Given the description of an element on the screen output the (x, y) to click on. 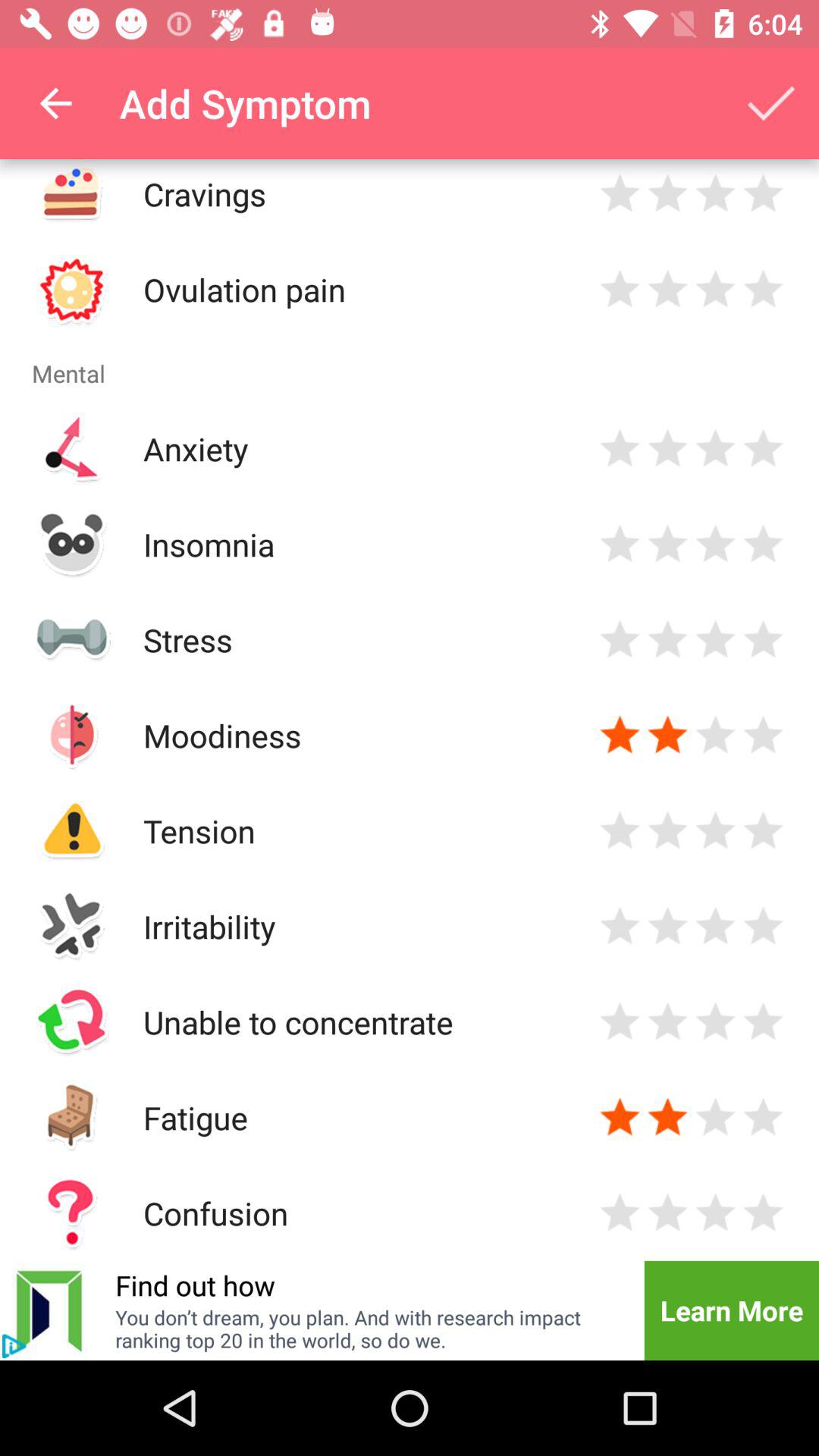
give insomnia four stars (763, 544)
